Given the description of an element on the screen output the (x, y) to click on. 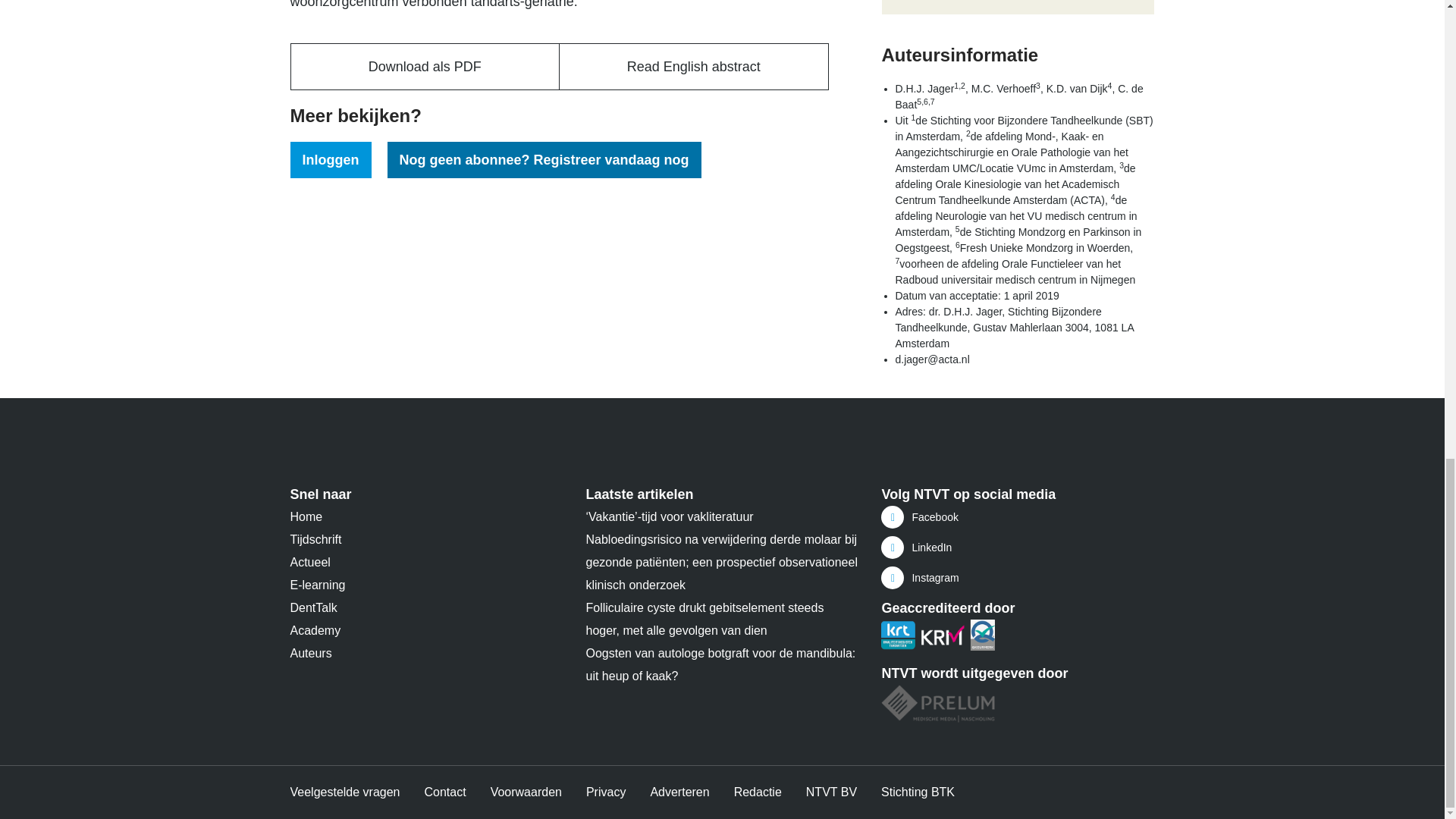
Inloggen (330, 159)
Nog geen abonnee? Registreer vandaag nog (544, 159)
Read English abstract (693, 67)
Download als PDF (425, 67)
